Given the description of an element on the screen output the (x, y) to click on. 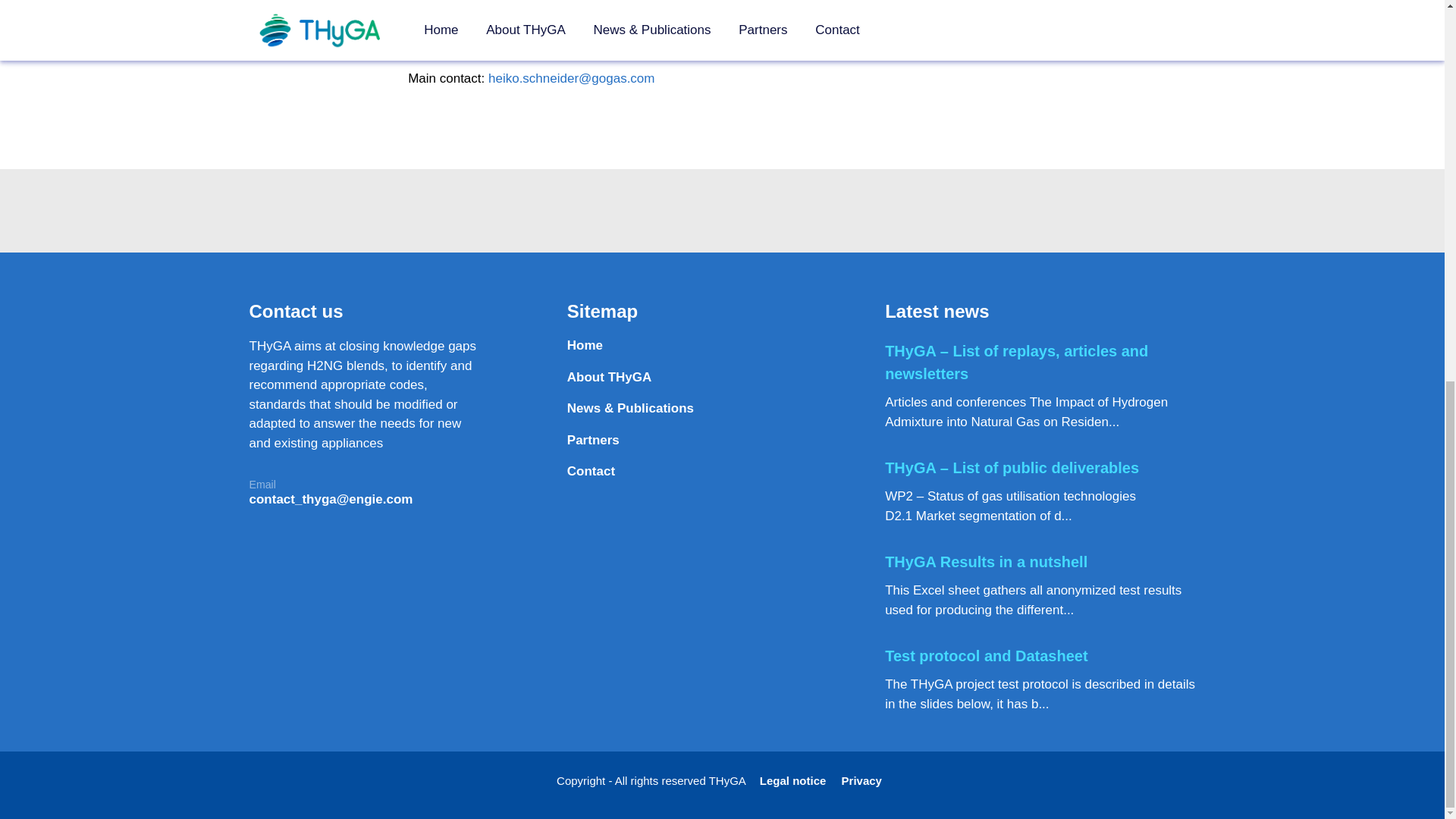
Home (722, 345)
link (694, 13)
About THyGA (722, 377)
Partners (722, 439)
